Given the description of an element on the screen output the (x, y) to click on. 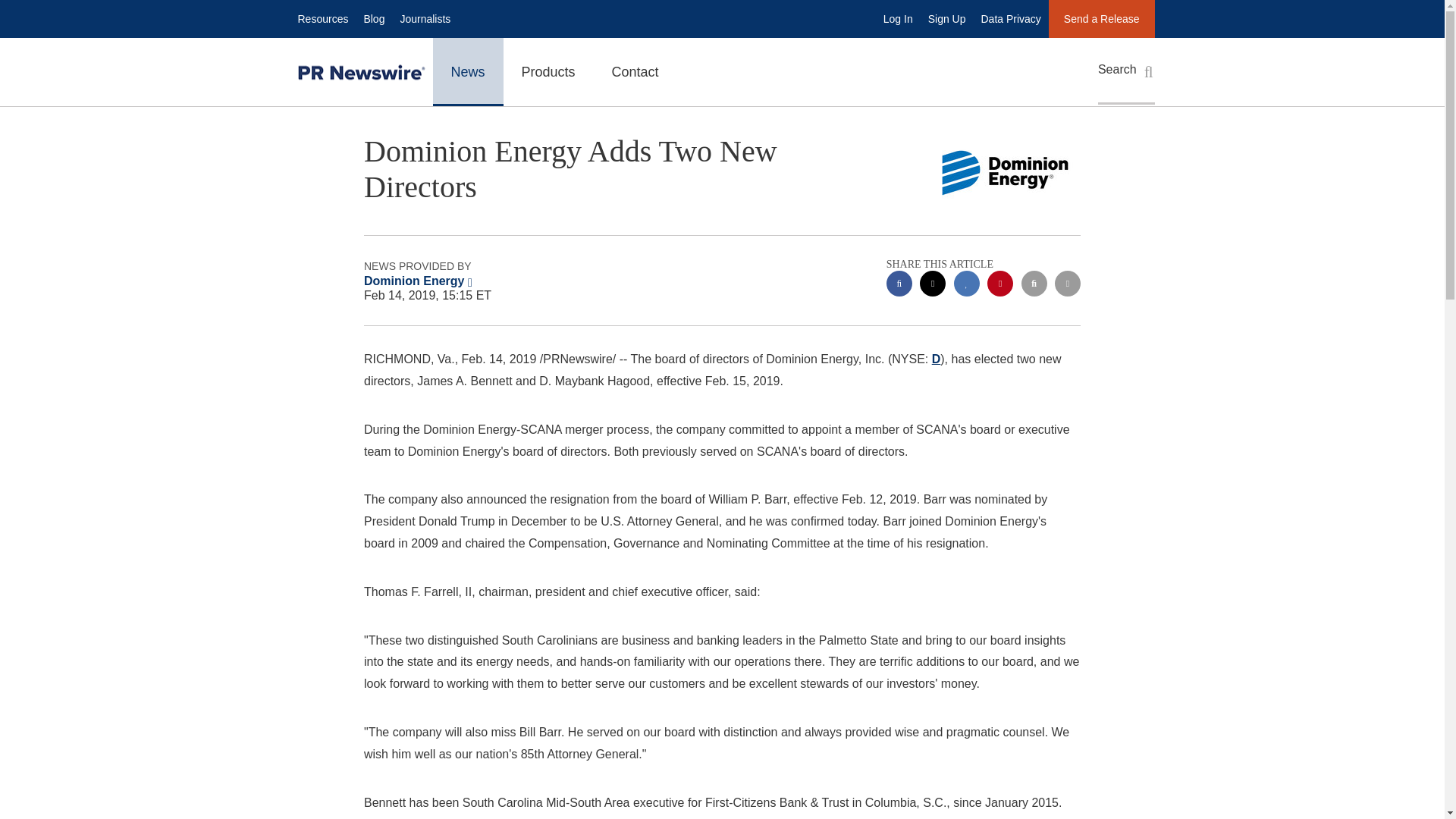
Contact (635, 71)
Blog (373, 18)
Products (548, 71)
Send a Release (1101, 18)
Resources (322, 18)
Sign Up (947, 18)
Log In (898, 18)
News (467, 71)
Journalists (424, 18)
